Given the description of an element on the screen output the (x, y) to click on. 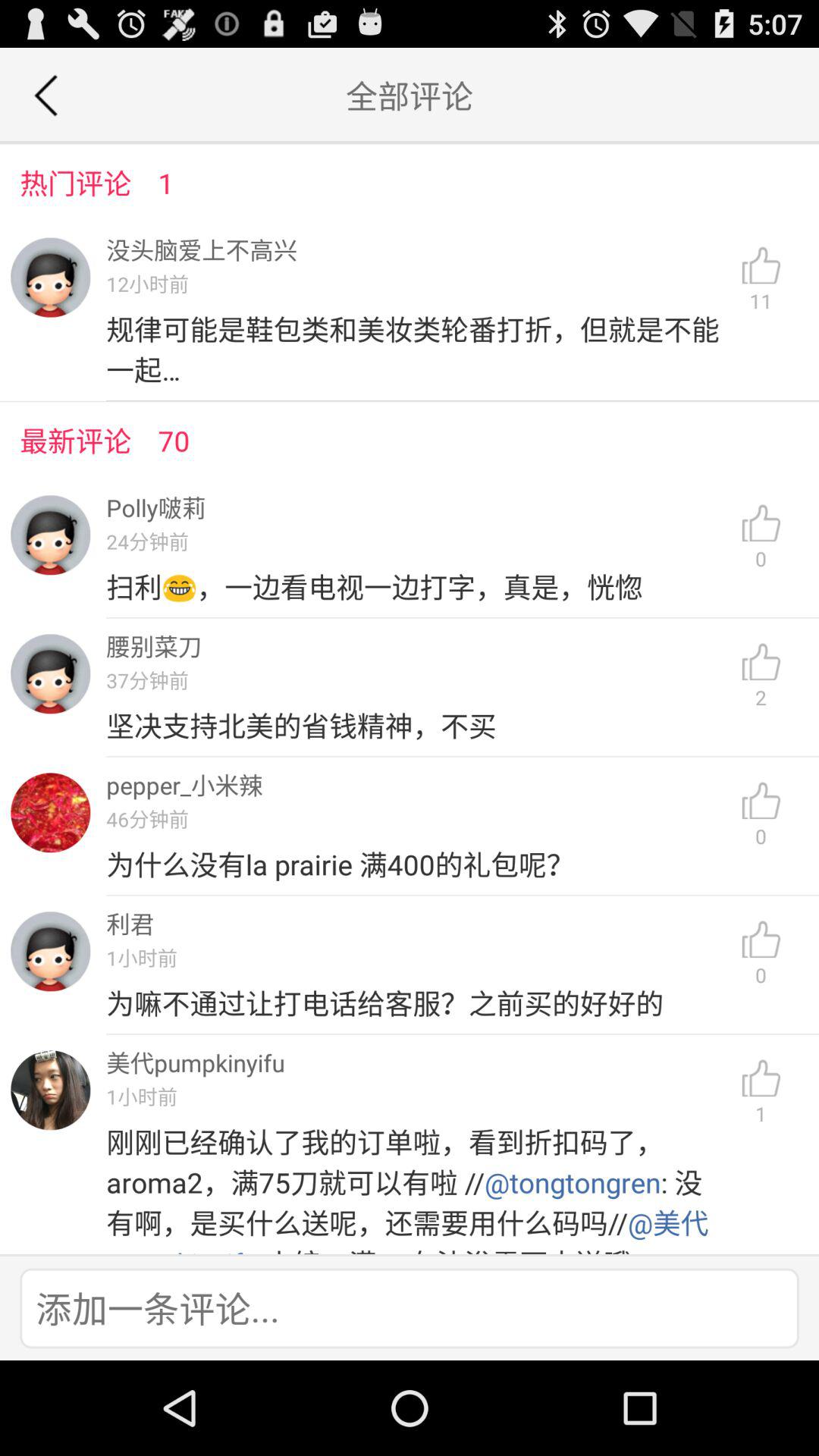
turn off the icon next to the 11 icon (417, 349)
